Given the description of an element on the screen output the (x, y) to click on. 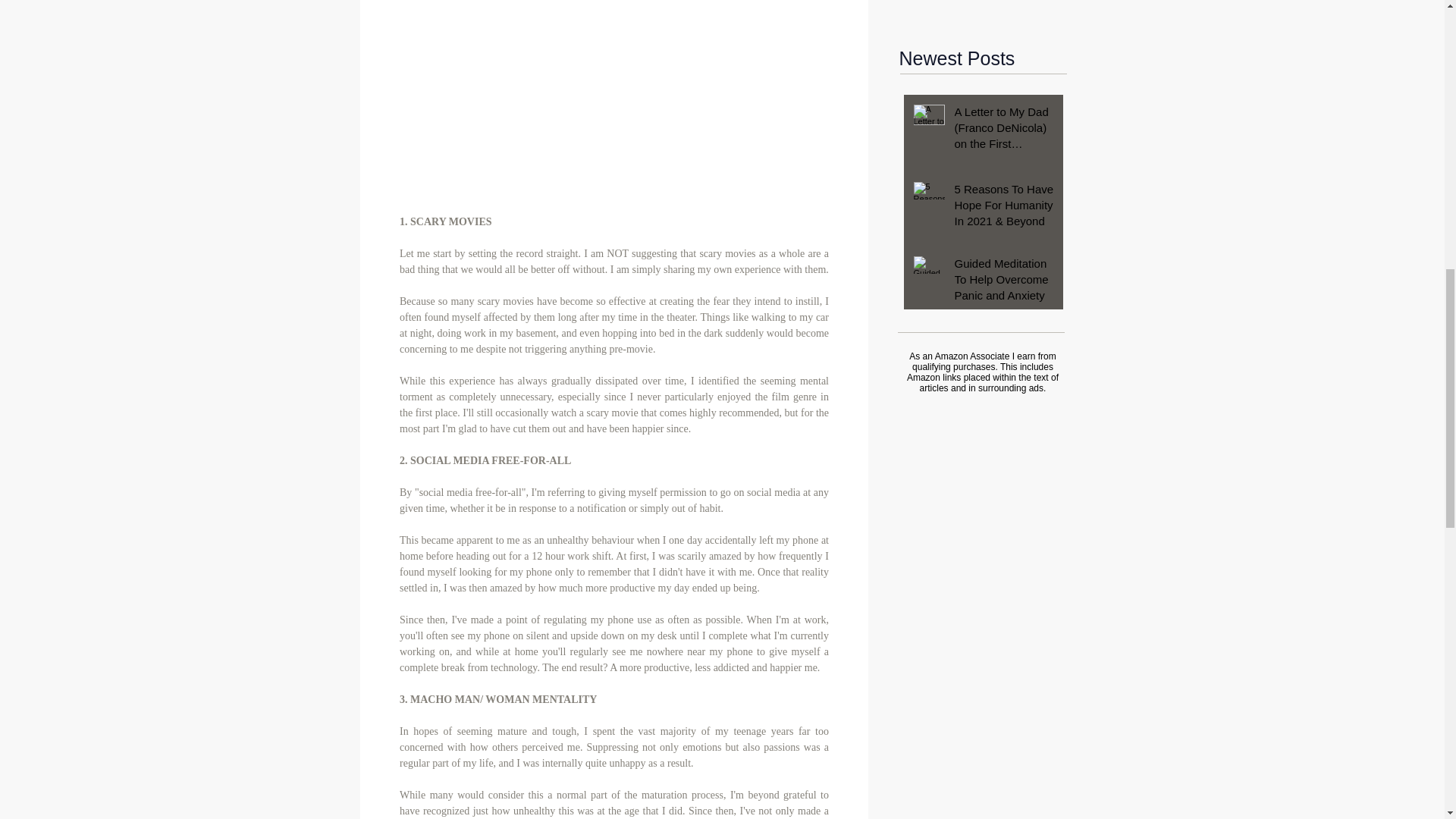
Guided Meditation To Help Overcome Panic and Anxiety (1002, 282)
ricos-video (613, 33)
